Given the description of an element on the screen output the (x, y) to click on. 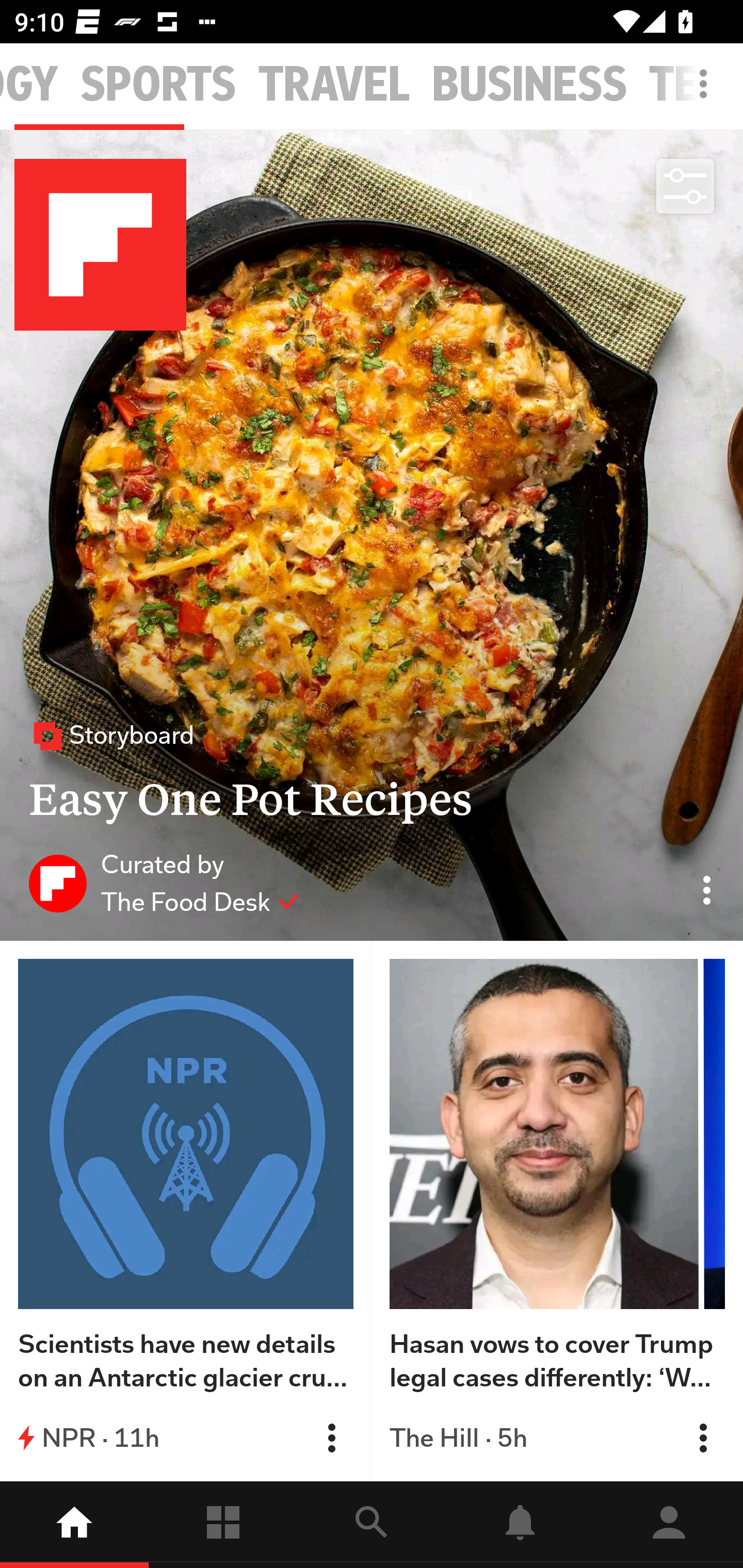
SPORTS (158, 84)
TRAVEL (334, 84)
BUSINESS (529, 84)
More options (706, 93)
Curated by The Food Desk (163, 882)
NPR · 11h Flip into Magazine (185, 1437)
The Hill · 5h Flip into Magazine (557, 1437)
Flip into Magazine (331, 1437)
Flip into Magazine (703, 1437)
home (74, 1524)
Following (222, 1524)
explore (371, 1524)
Notifications (519, 1524)
Profile (668, 1524)
